Given the description of an element on the screen output the (x, y) to click on. 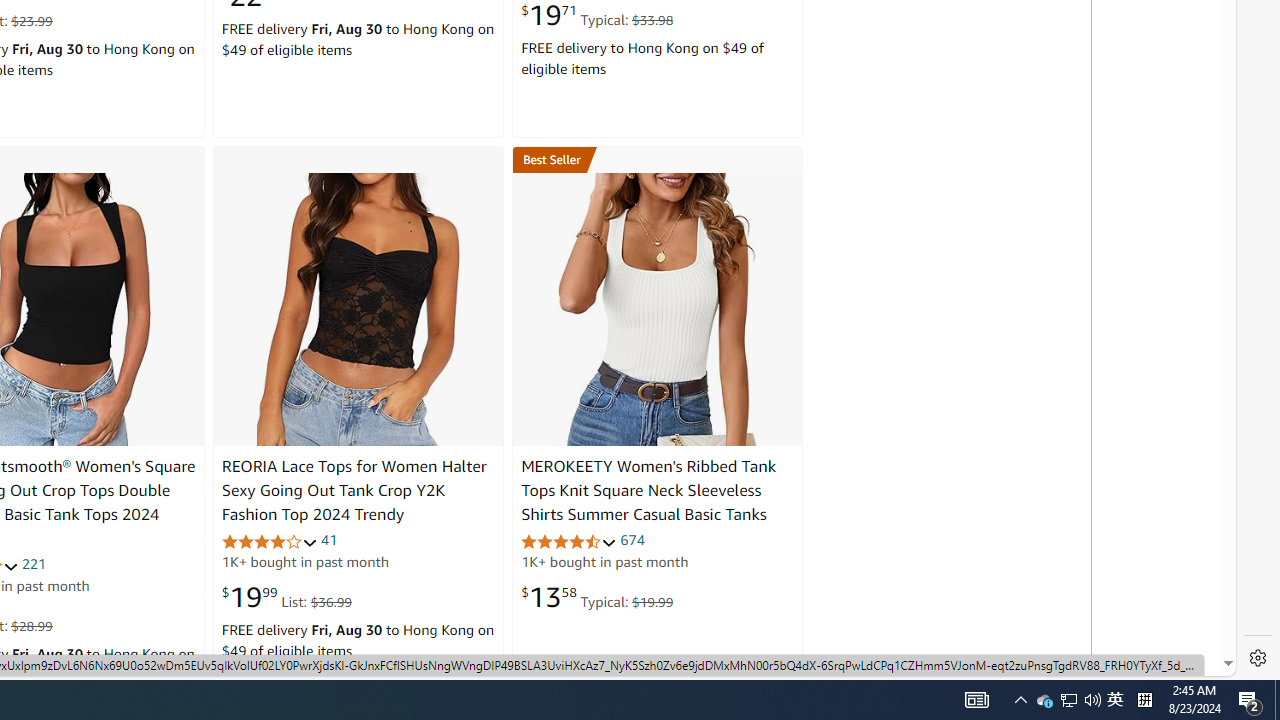
41 (328, 539)
$19.99 List: $36.99 (286, 596)
$13.58 Typical: $19.99 (597, 596)
221 (33, 563)
4.5 out of 5 stars (569, 541)
674 (632, 539)
4.0 out of 5 stars (269, 541)
